Given the description of an element on the screen output the (x, y) to click on. 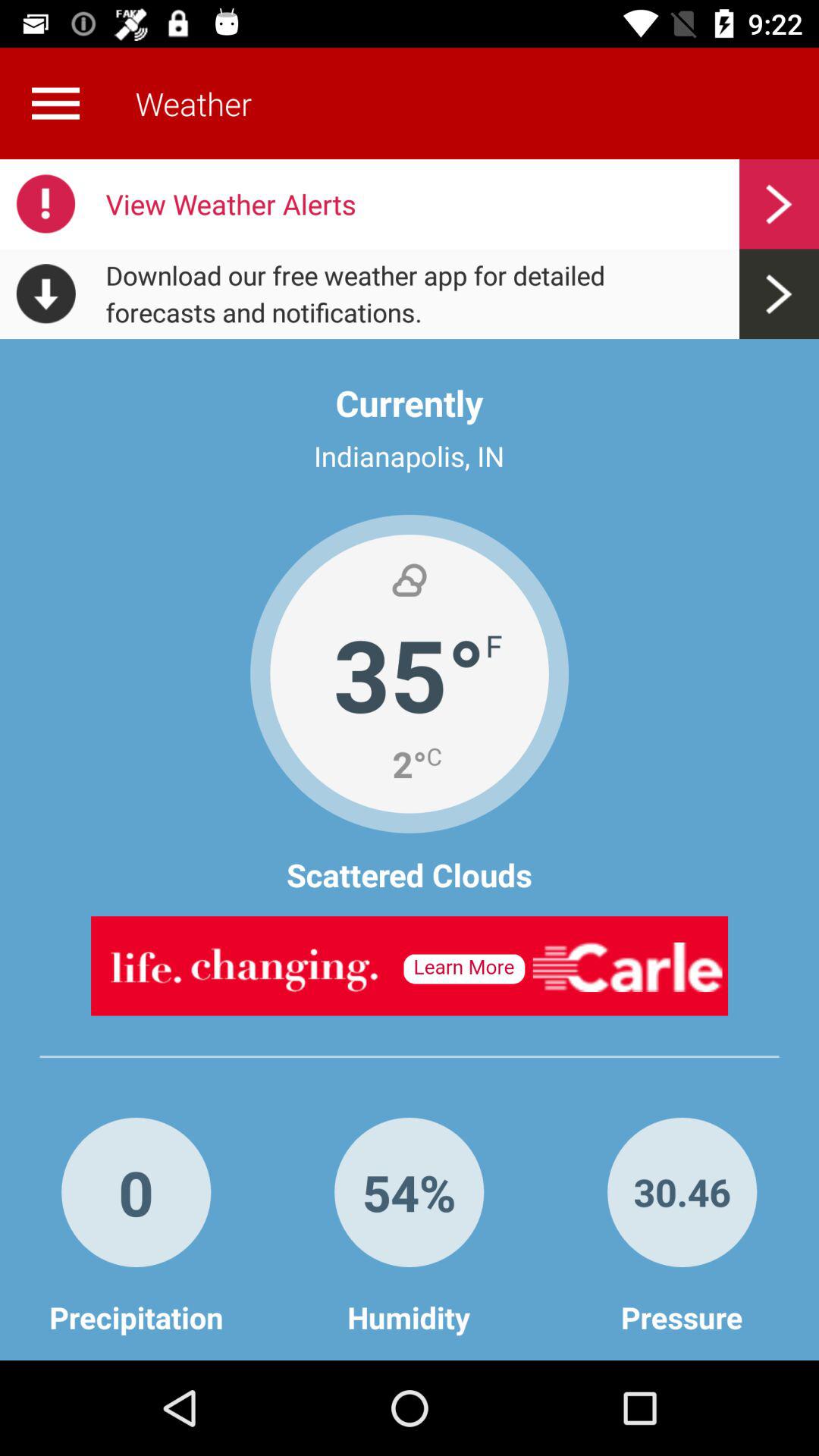
menu (55, 103)
